Given the description of an element on the screen output the (x, y) to click on. 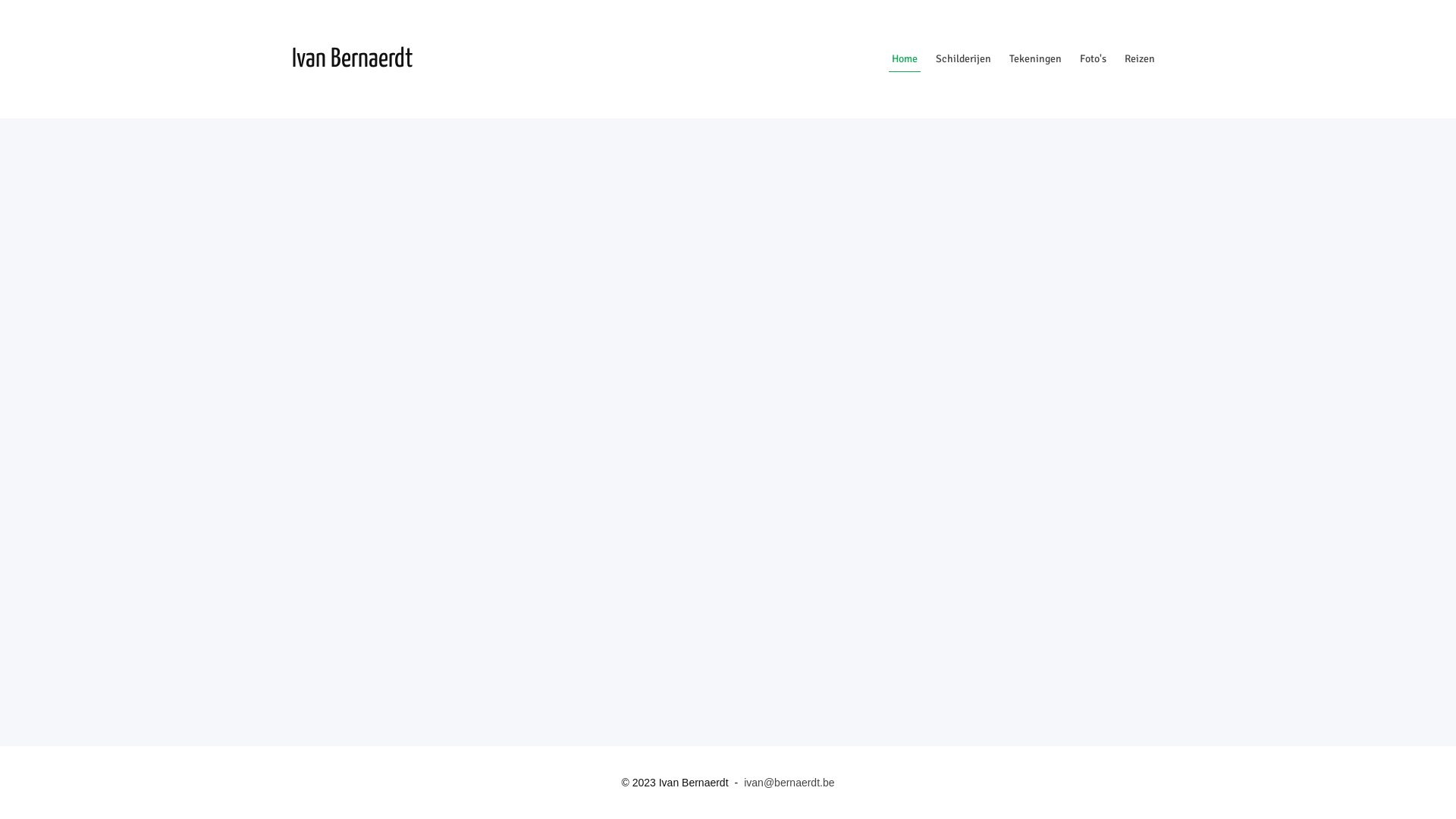
Schilderijen Element type: text (963, 58)
ivan@bernaerdt.be Element type: text (788, 782)
Reizen Element type: text (1139, 58)
Tekeningen Element type: text (1035, 58)
Foto's Element type: text (1092, 58)
Home Element type: text (904, 58)
